Given the description of an element on the screen output the (x, y) to click on. 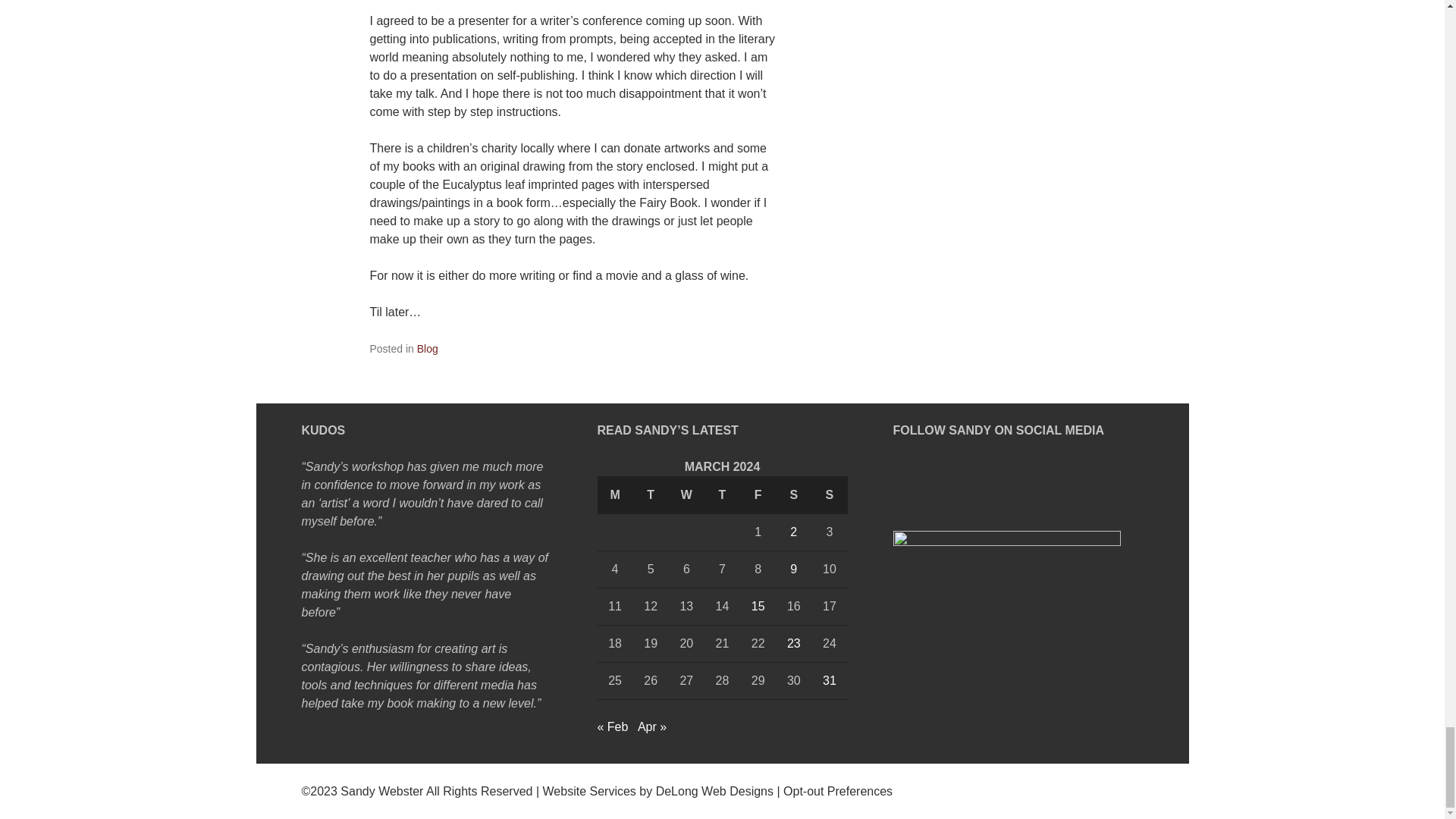
Blog (427, 347)
Friday (757, 494)
31 (828, 680)
Saturday (793, 494)
Monday (614, 494)
15 (758, 605)
23 (793, 642)
Thursday (721, 494)
Tuesday (650, 494)
Wednesday (686, 494)
Sunday (828, 494)
